Given the description of an element on the screen output the (x, y) to click on. 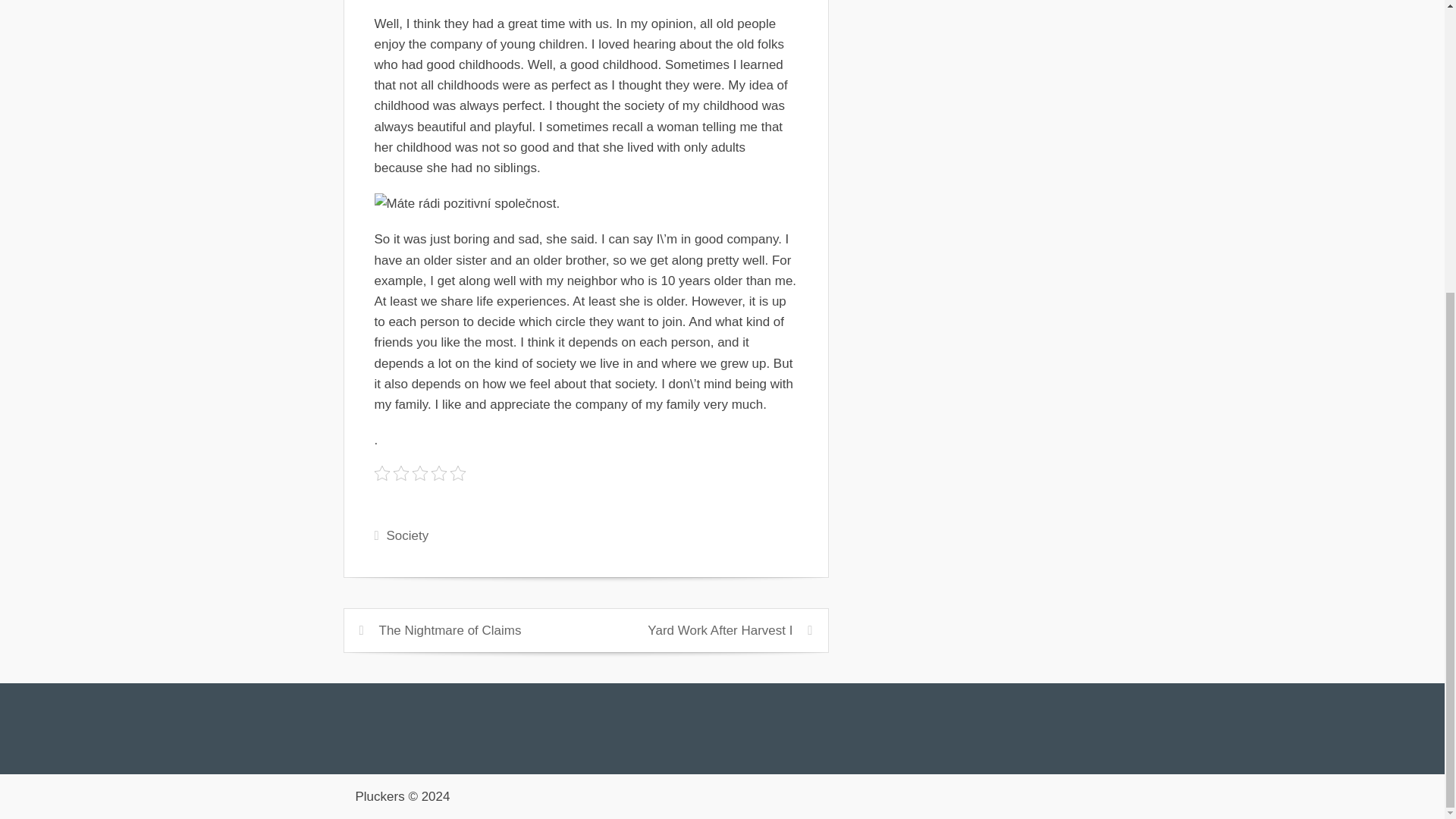
Pluckers (379, 796)
Society (406, 535)
Yard Work After Harvest I (719, 630)
The Nightmare of Claims (449, 630)
